Given the description of an element on the screen output the (x, y) to click on. 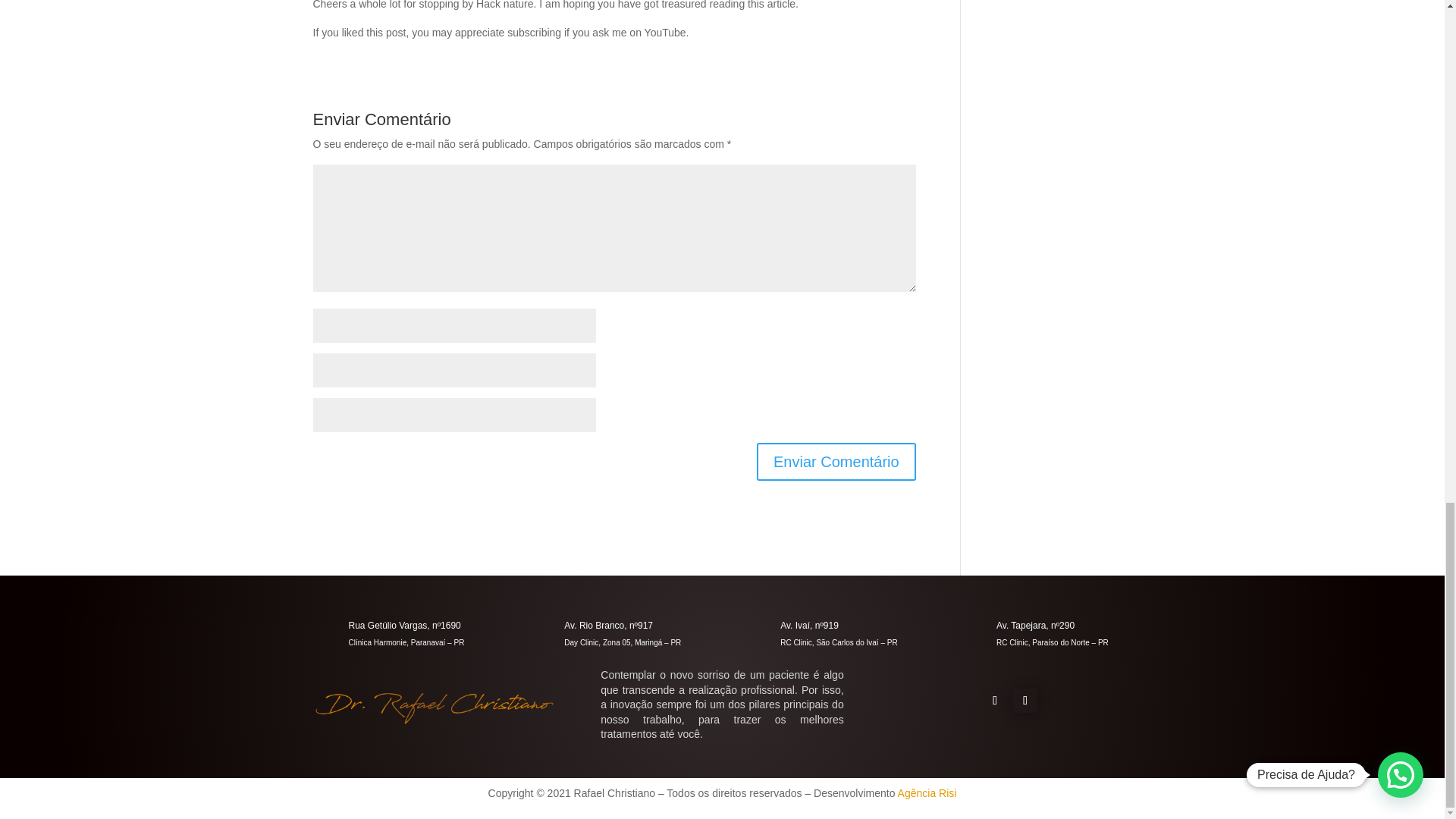
logo (433, 706)
Siga em Facebook (994, 700)
Siga em Instagram (1024, 700)
